Given the description of an element on the screen output the (x, y) to click on. 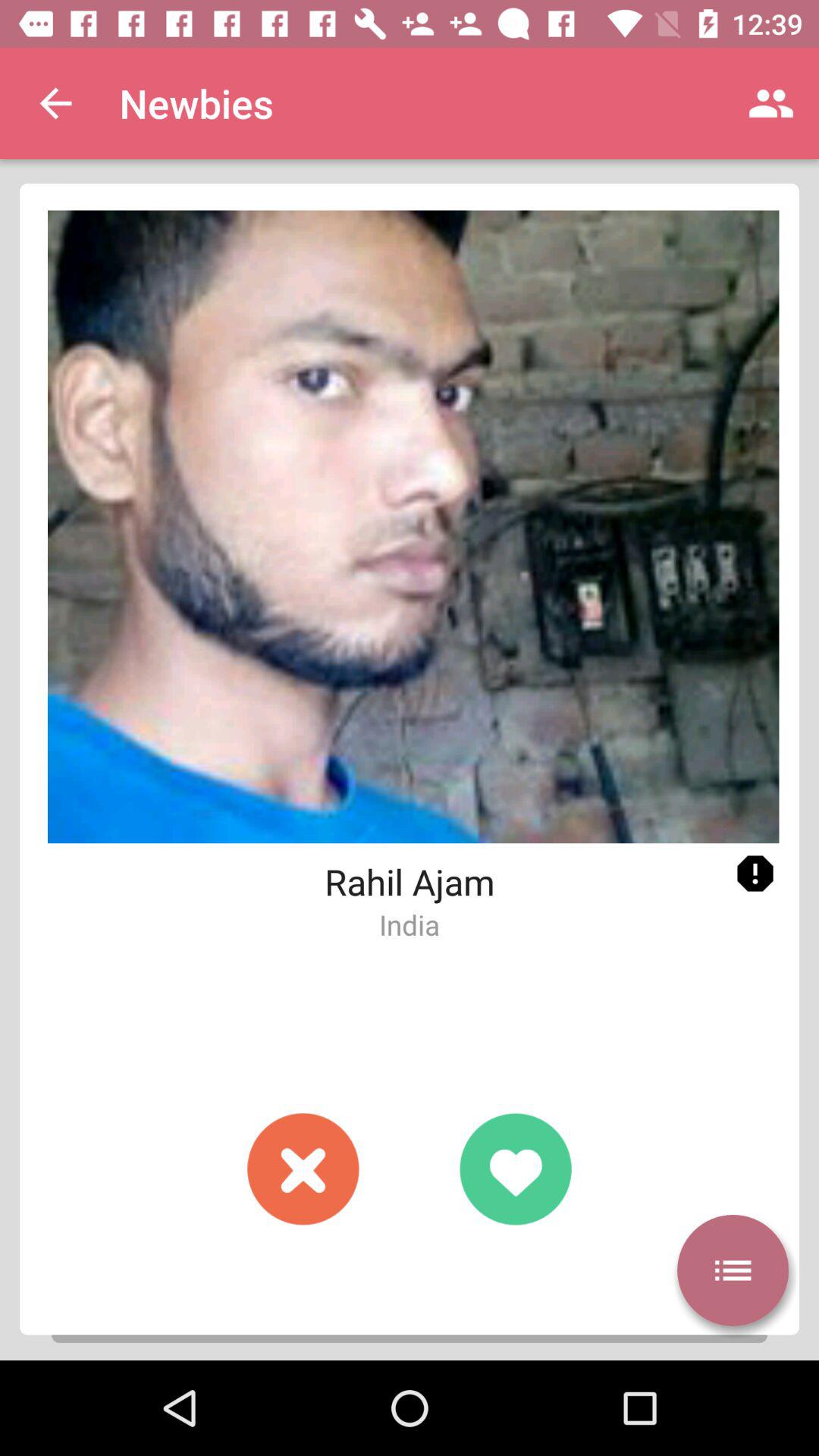
dislike/reject user (303, 1169)
